Given the description of an element on the screen output the (x, y) to click on. 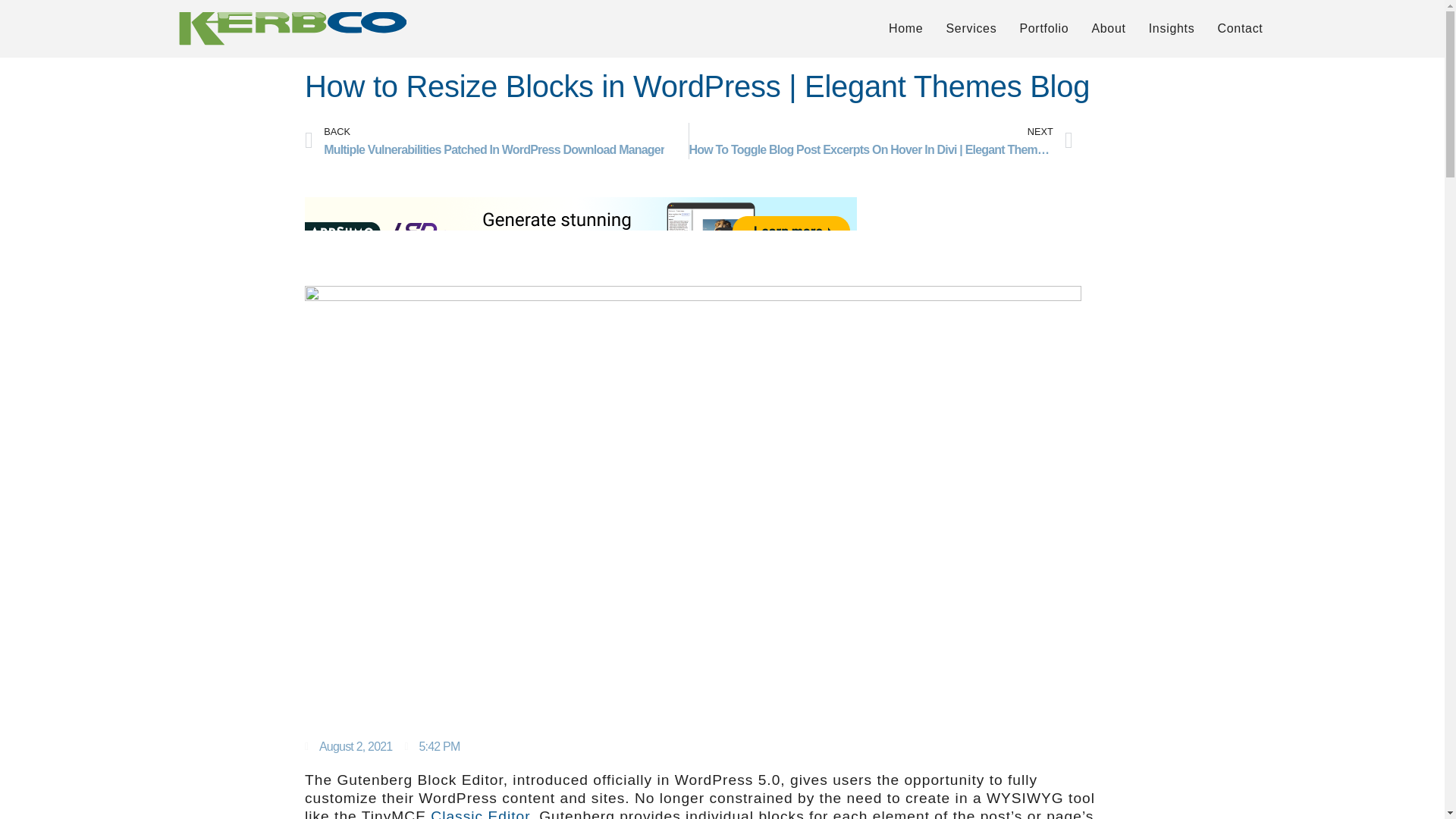
Portfolio (1043, 28)
Insights (1172, 28)
Home (905, 28)
Contact (1239, 28)
About (1108, 28)
Services (970, 28)
Classic Editor (479, 813)
